Given the description of an element on the screen output the (x, y) to click on. 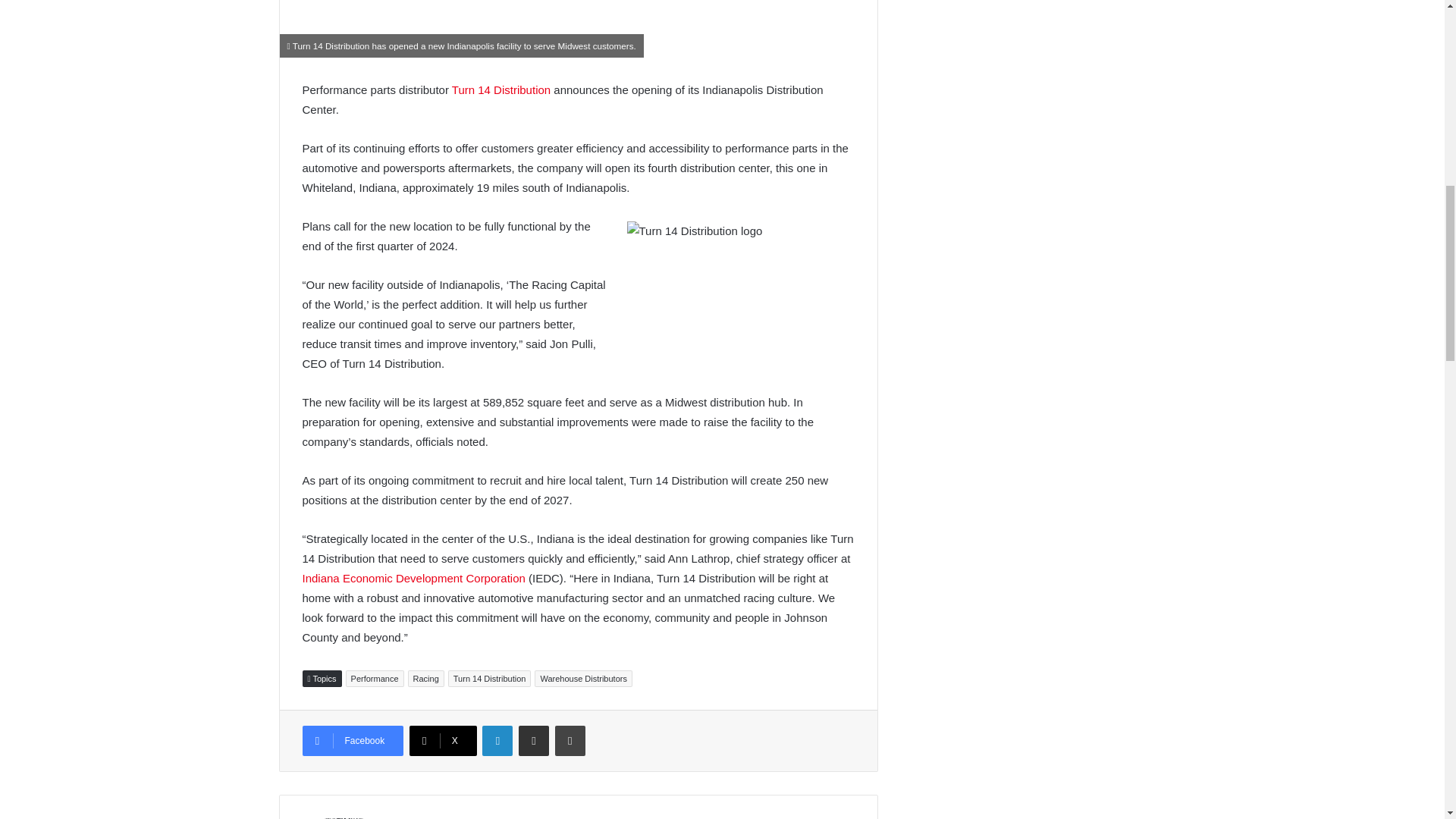
Print (569, 740)
Share via Email (533, 740)
LinkedIn (496, 740)
Facebook (352, 740)
X (443, 740)
